Given the description of an element on the screen output the (x, y) to click on. 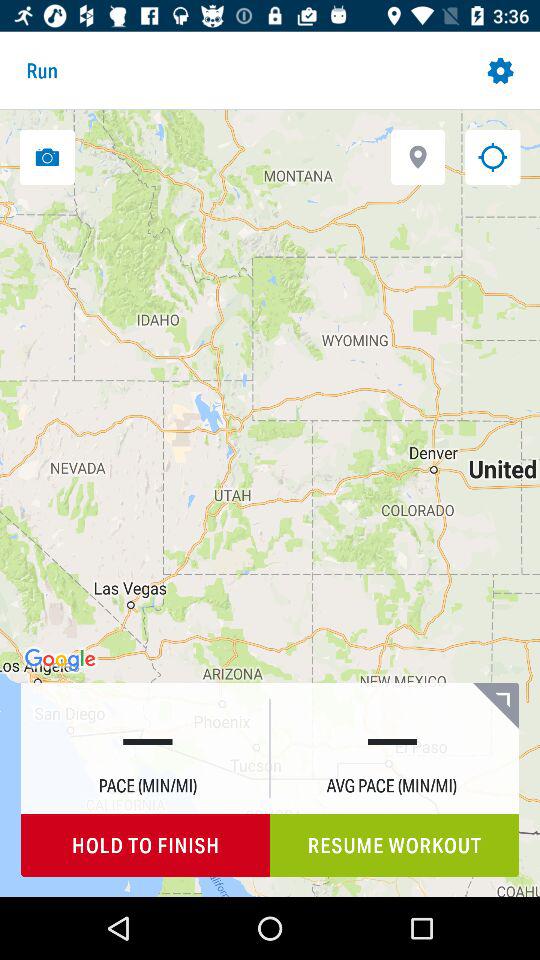
select item to the left of the resume workout icon (145, 845)
